Given the description of an element on the screen output the (x, y) to click on. 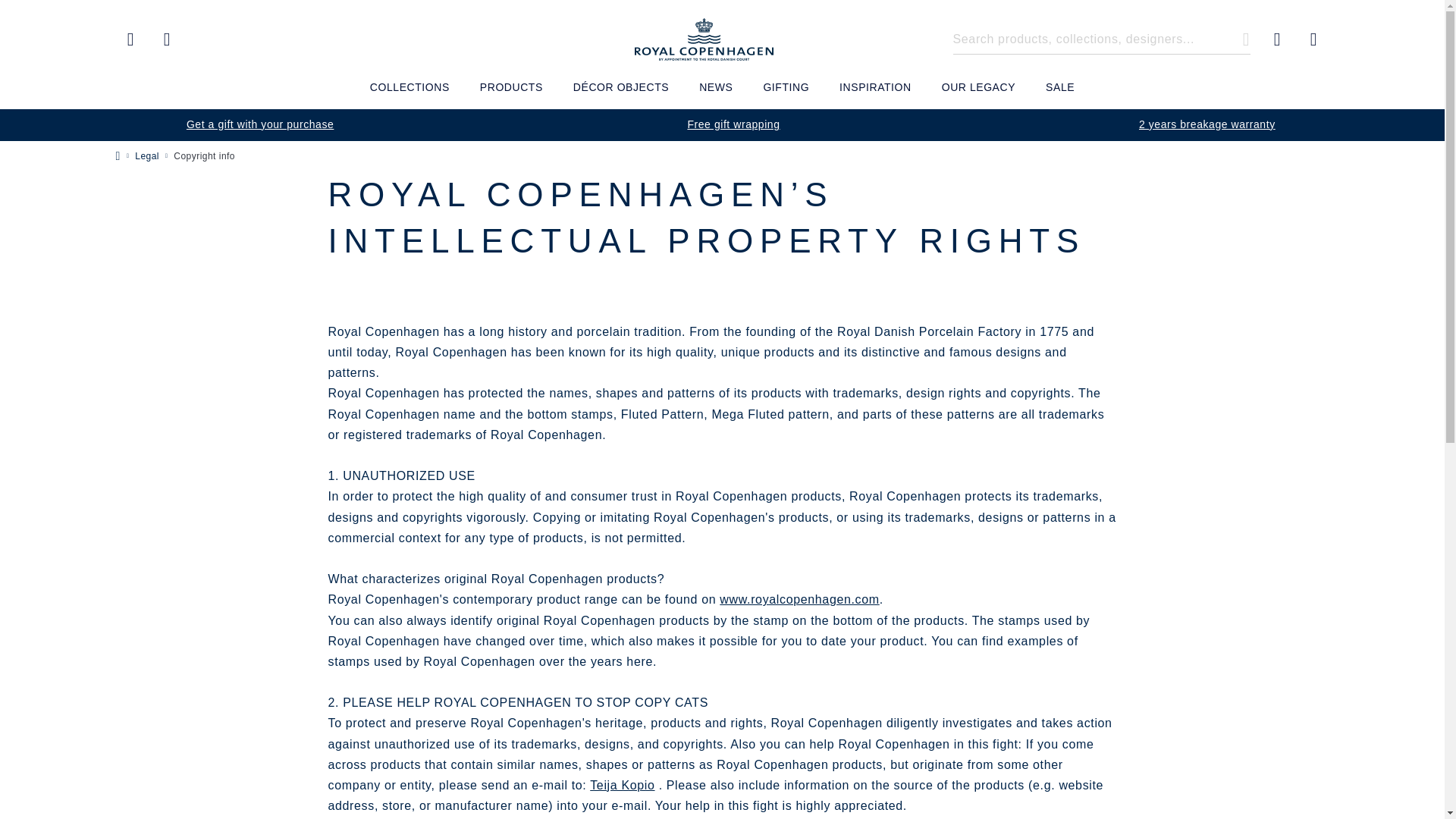
Country selector overlay (130, 39)
Cart (1312, 39)
COLLECTIONS (409, 93)
Login (166, 39)
